Given the description of an element on the screen output the (x, y) to click on. 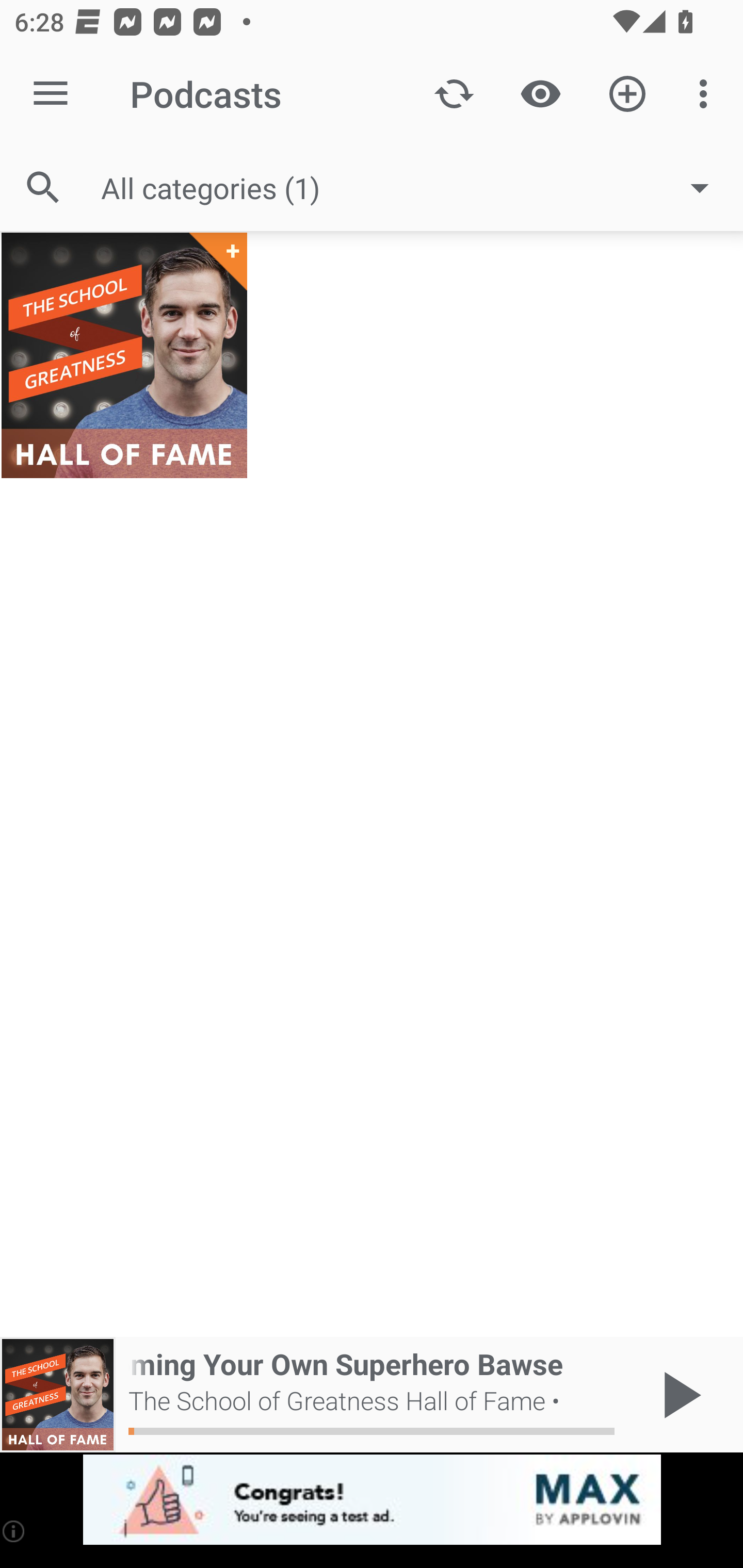
Open navigation sidebar (50, 93)
Update (453, 93)
Show / Hide played content (540, 93)
Add new Podcast (626, 93)
More options (706, 93)
Search (43, 187)
All categories (1) (414, 188)
The School of Greatness Hall of Fame + (124, 355)
Play / Pause (677, 1394)
app-monetization (371, 1500)
(i) (14, 1531)
